Given the description of an element on the screen output the (x, y) to click on. 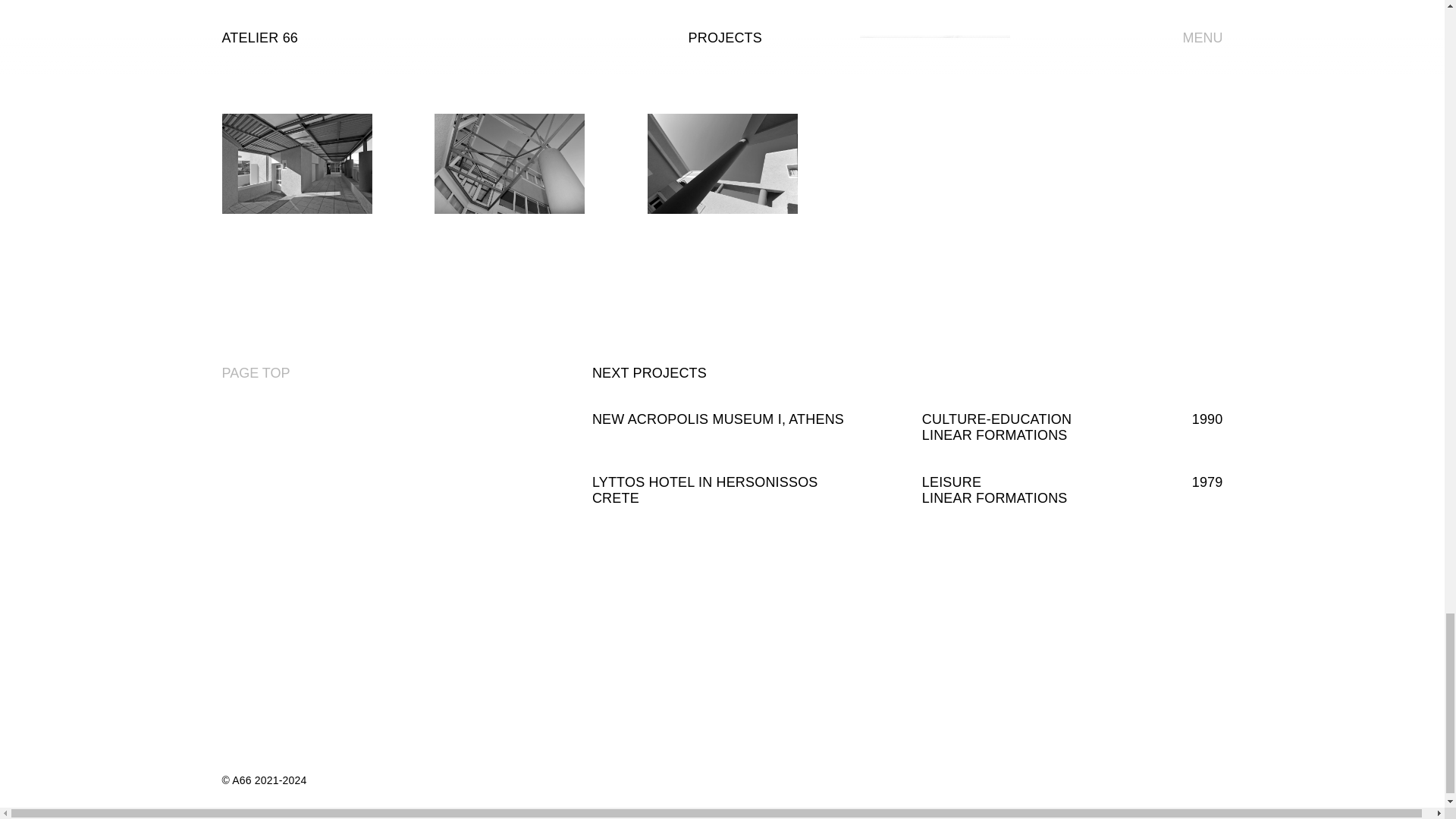
PAGE TOP (255, 373)
PAGE TOP (255, 373)
